Given the description of an element on the screen output the (x, y) to click on. 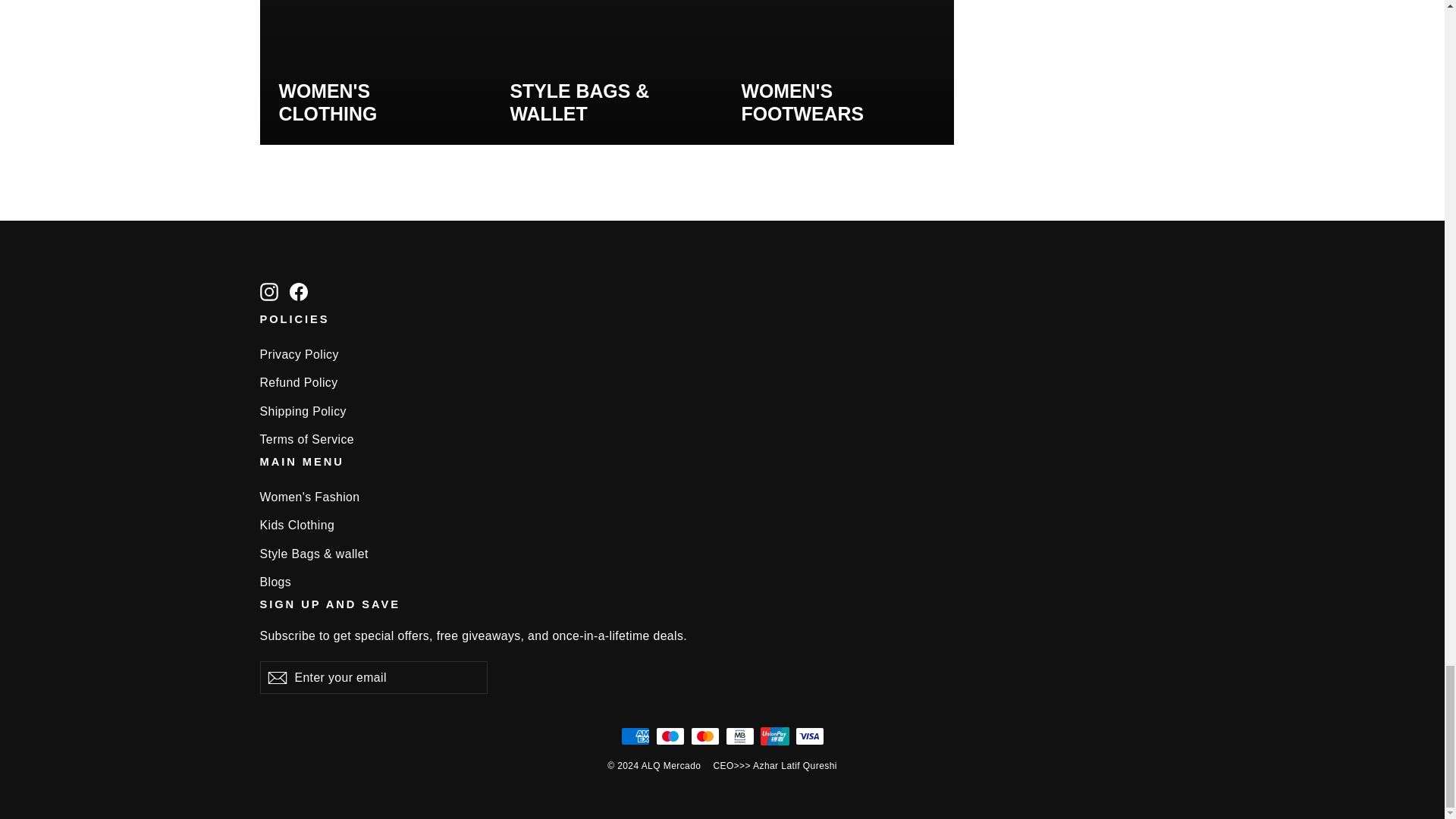
Multibanco (739, 736)
American Express (634, 736)
Mastercard (704, 736)
icon-email (276, 678)
Maestro (669, 736)
Visa (809, 736)
Union Pay (774, 736)
instagram (268, 291)
ALQ Mercado on Facebook (298, 291)
